Given the description of an element on the screen output the (x, y) to click on. 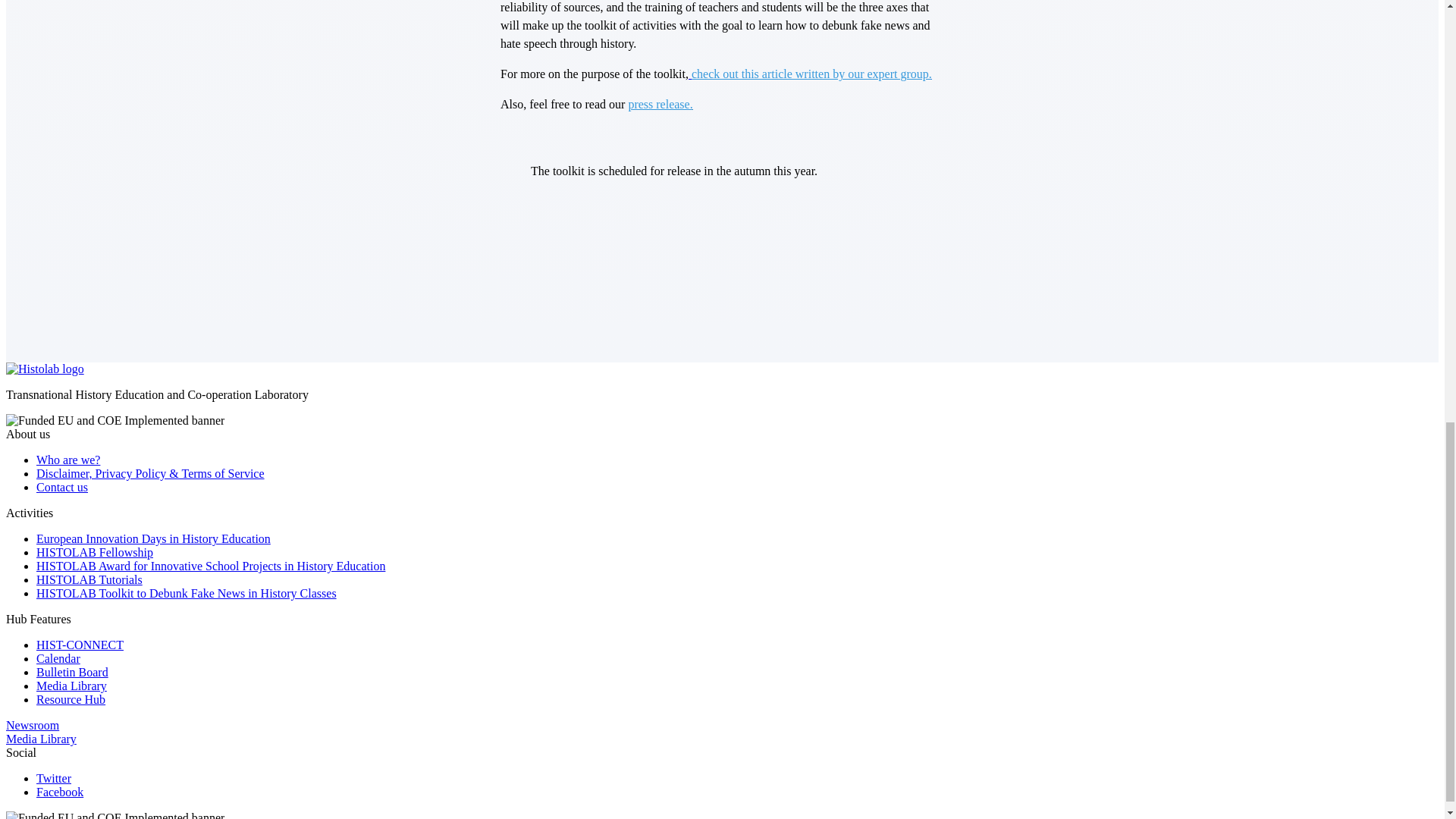
Media Library (41, 738)
Bulletin Board (71, 671)
Contact us (61, 486)
HISTOLAB Fellowship (94, 552)
Facebook (59, 791)
Resource Hub (70, 698)
HISTOLAB Toolkit to Debunk Fake News in History Classes (186, 593)
Media Library (71, 685)
Calendar (58, 658)
Newsroom (32, 725)
Twitter (53, 778)
HIST-CONNECT (79, 644)
European Innovation Days in History Education (153, 538)
Who are we? (68, 459)
check out this article written by our expert group. (809, 73)
